Given the description of an element on the screen output the (x, y) to click on. 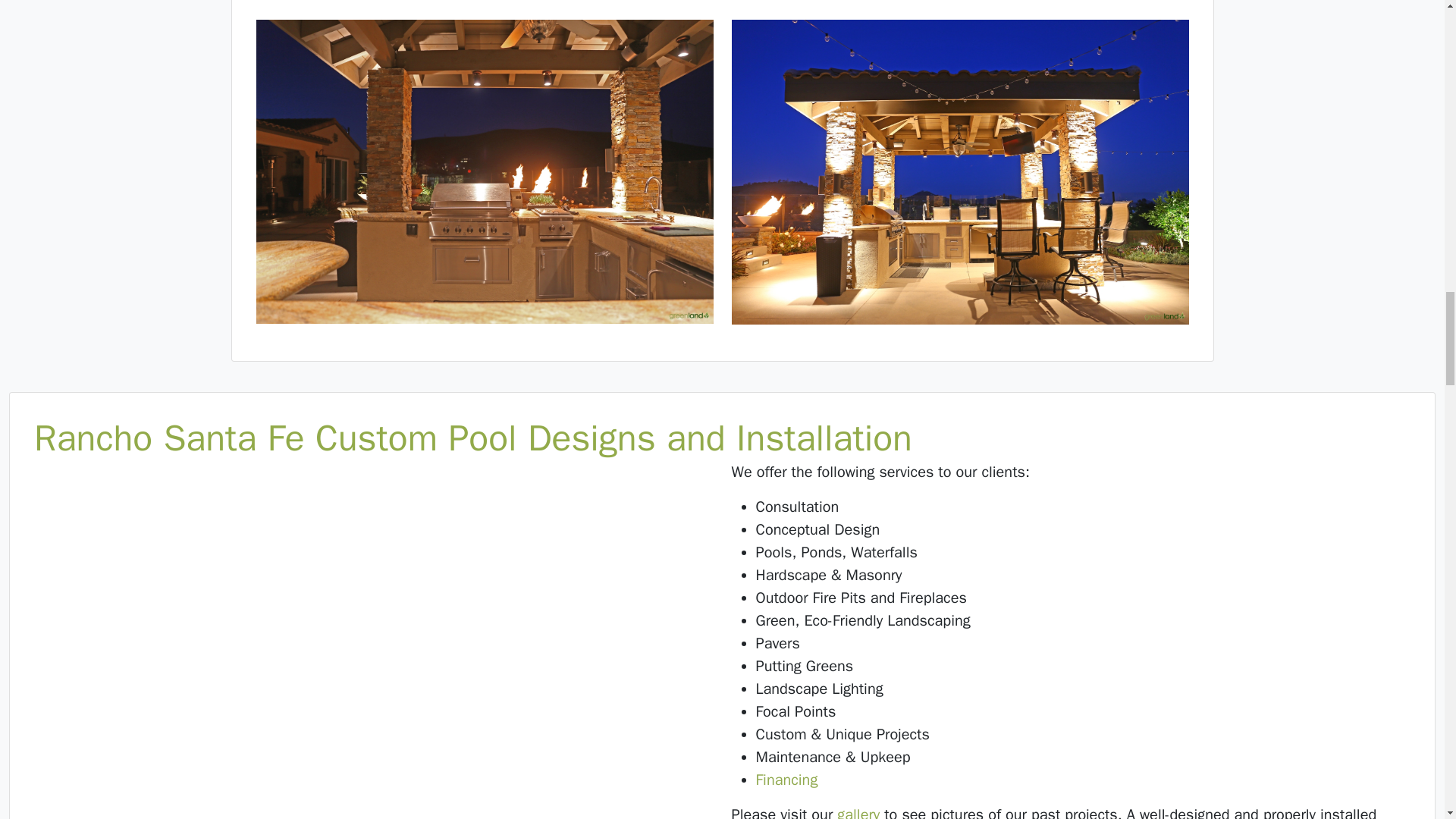
Financing (785, 779)
gallery (858, 812)
